Given the description of an element on the screen output the (x, y) to click on. 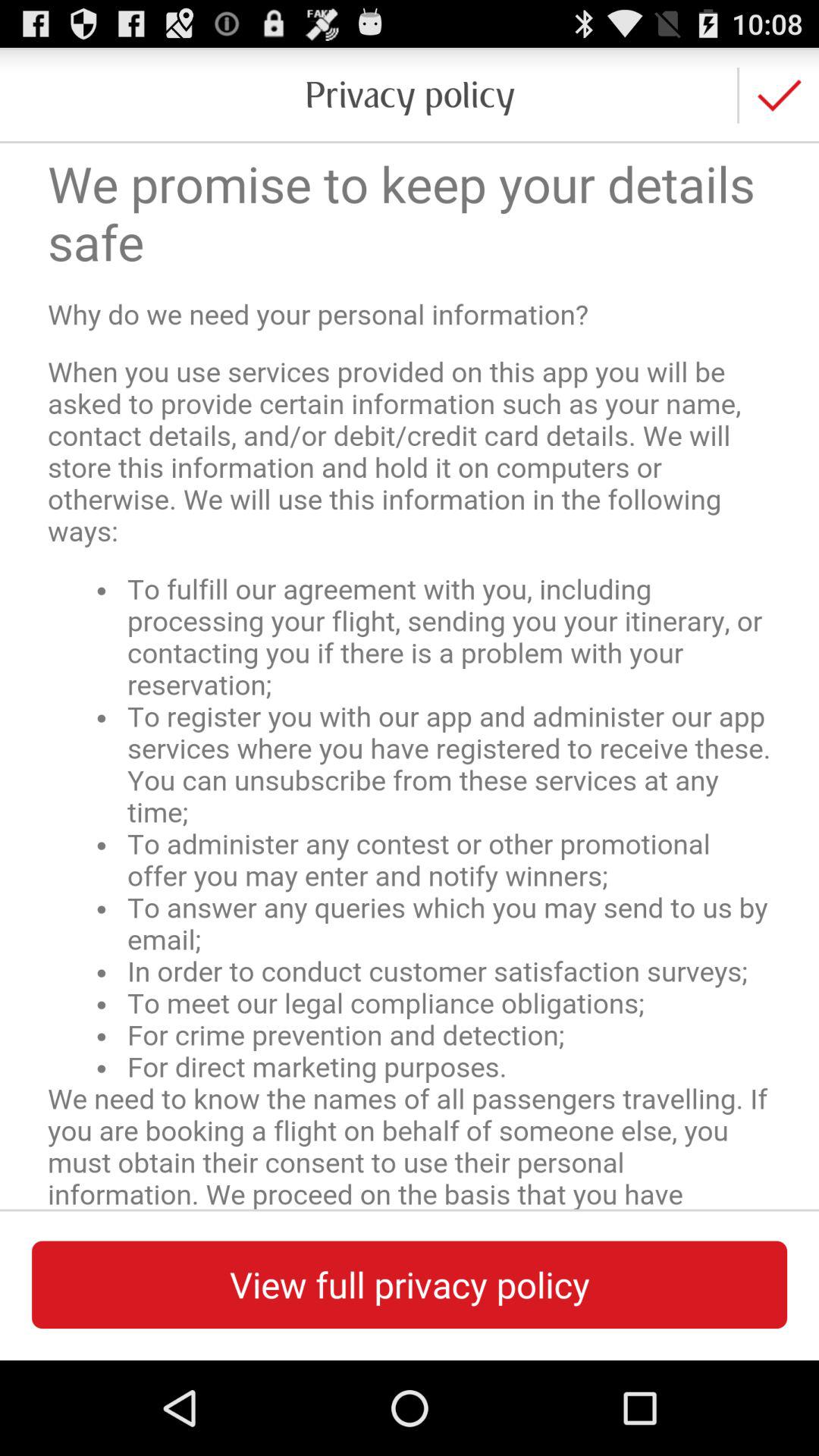
privacy policy page (409, 676)
